Given the description of an element on the screen output the (x, y) to click on. 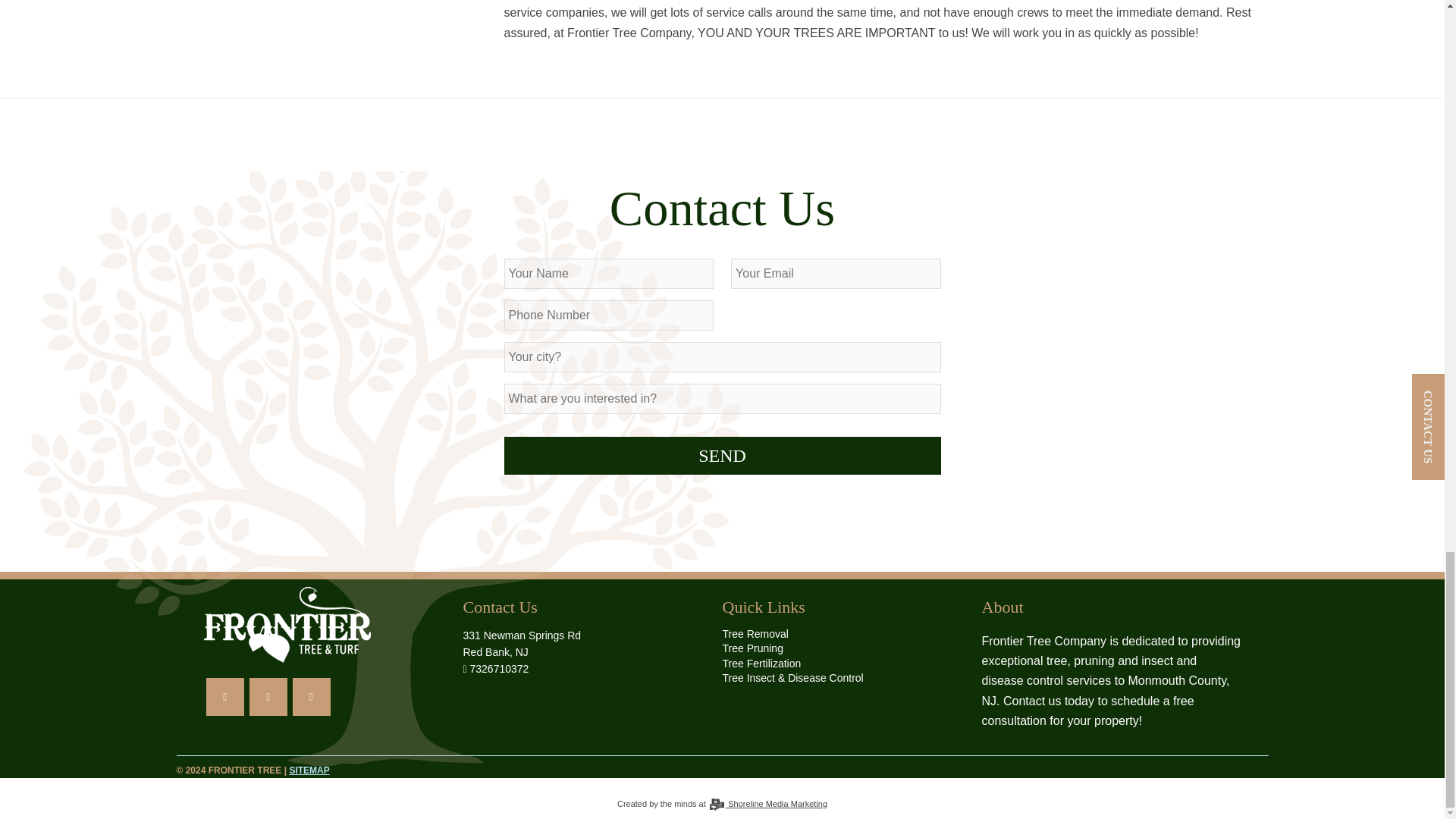
Send (721, 455)
Frontier Tree Youtube (311, 696)
Frontier Tree Instagram (267, 696)
Frontier Tree Facebook (225, 696)
Send (721, 455)
